Given the description of an element on the screen output the (x, y) to click on. 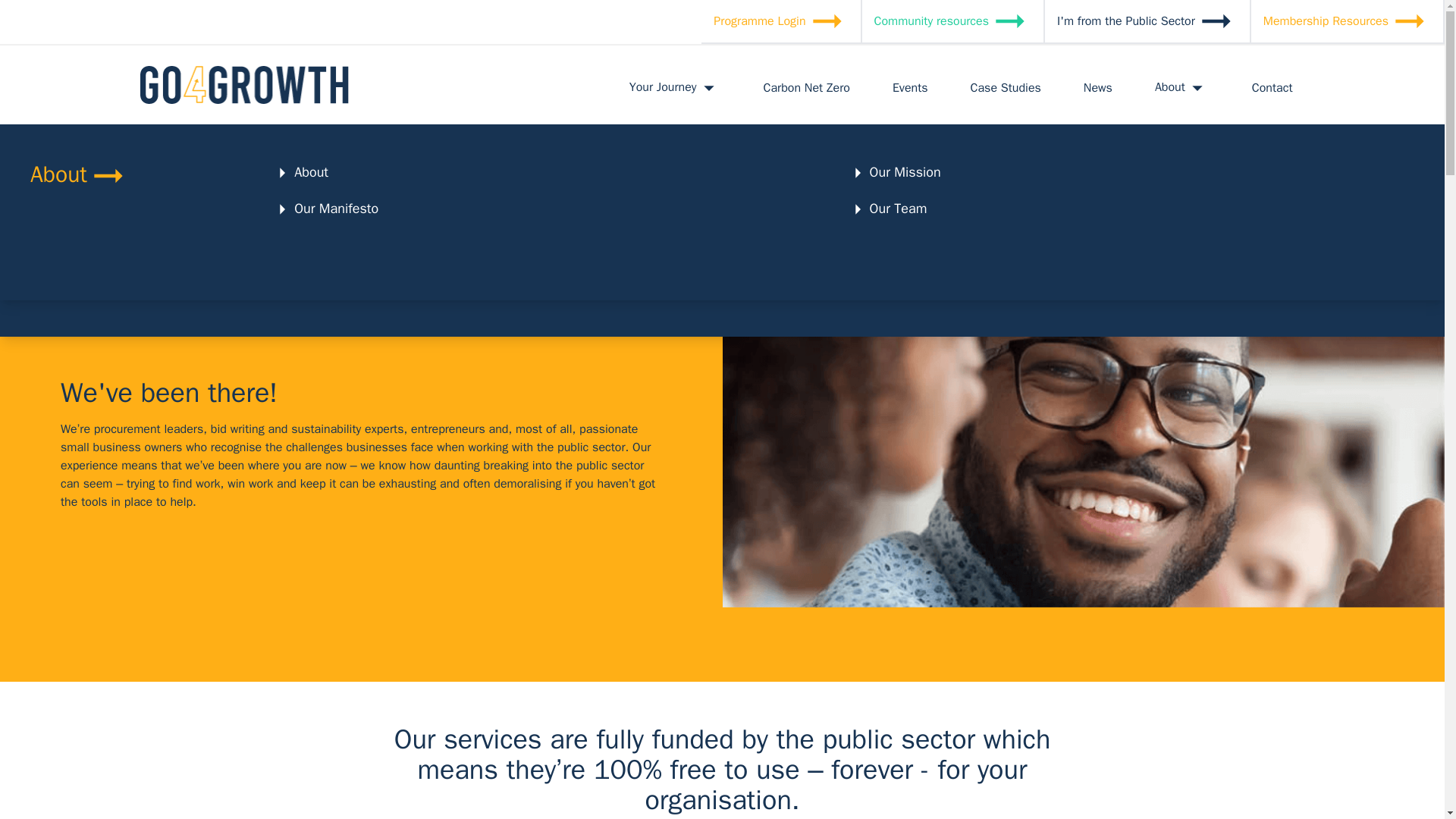
About (1181, 84)
I've Tried (309, 208)
Public Sector Supply Ready accreditation (403, 244)
Community resources (952, 22)
Case Studies (1005, 84)
Events (910, 84)
Contact (1272, 84)
Your Journey (675, 84)
I'm from the Public Sector (1147, 22)
News (1097, 84)
I've won work and want to grow (951, 208)
Your Journey (319, 171)
Our Mission (892, 171)
Our Team (886, 208)
Carbon Net Zero (806, 84)
